Given the description of an element on the screen output the (x, y) to click on. 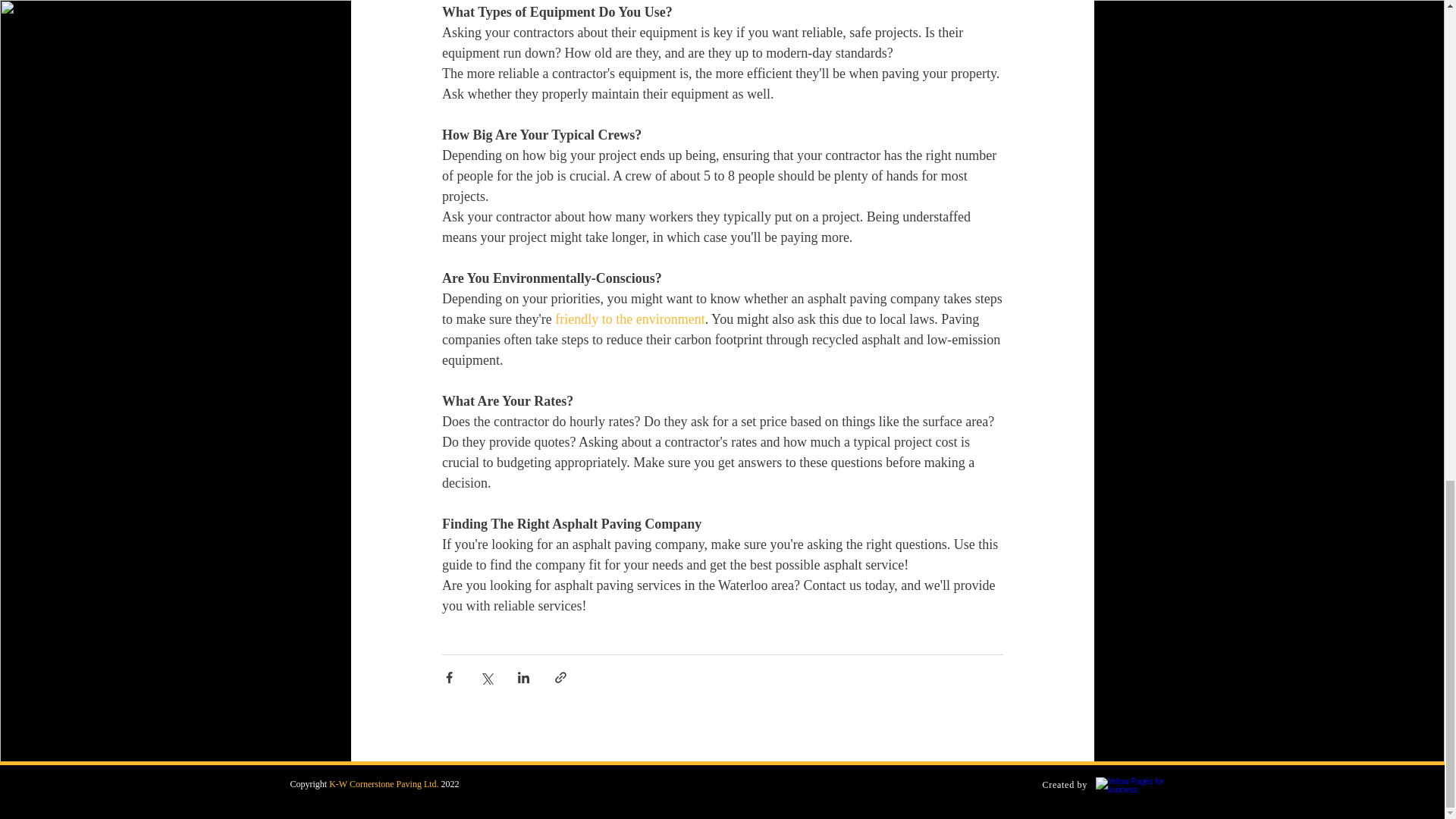
K-W Cornerstone Paving Ltd (382, 783)
friendly to the environment (629, 319)
